Given the description of an element on the screen output the (x, y) to click on. 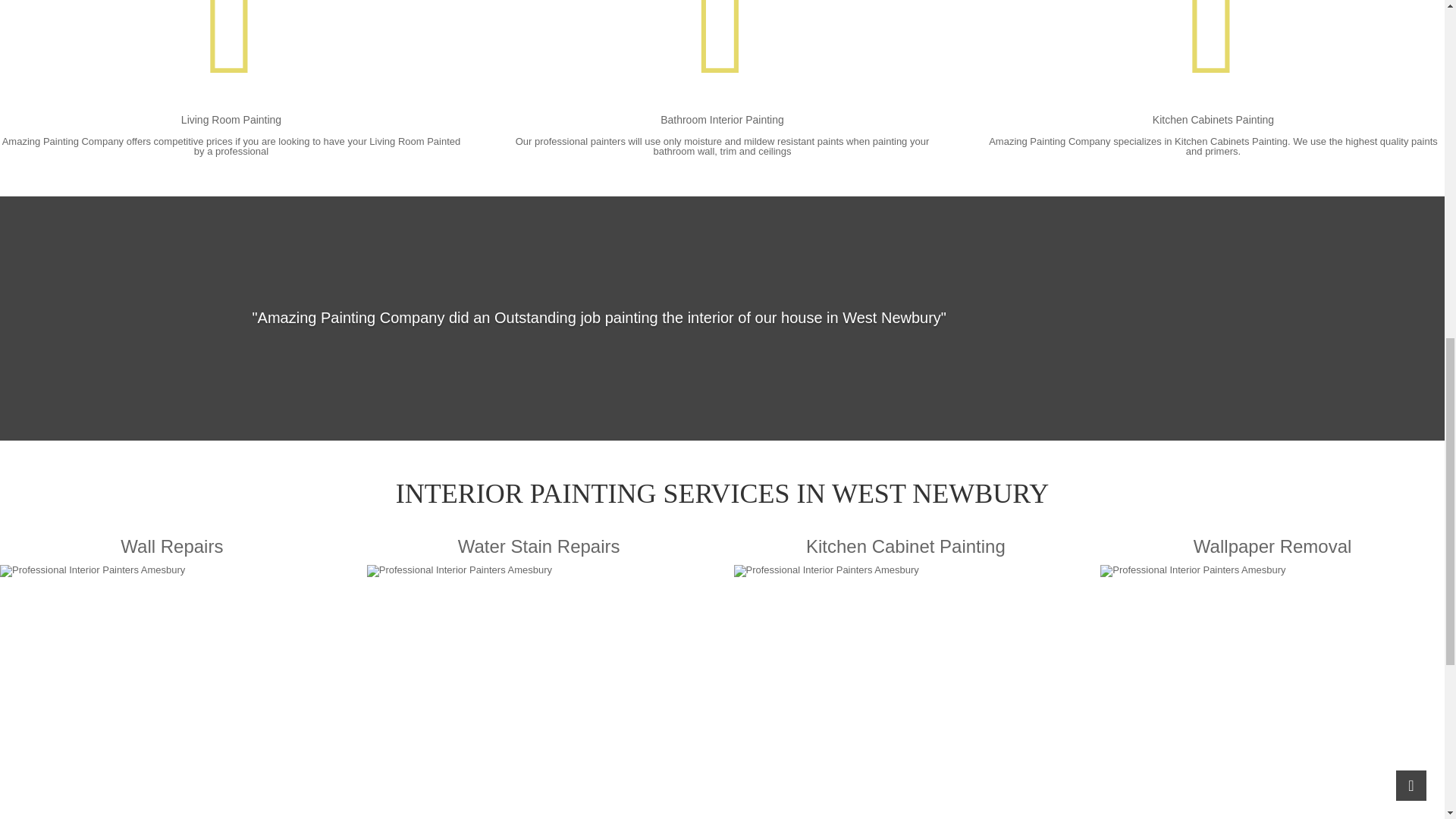
Wall Repairs  (171, 679)
Water Stain Repairs  (538, 678)
Kitchen Cabinet Painting (905, 679)
